Given the description of an element on the screen output the (x, y) to click on. 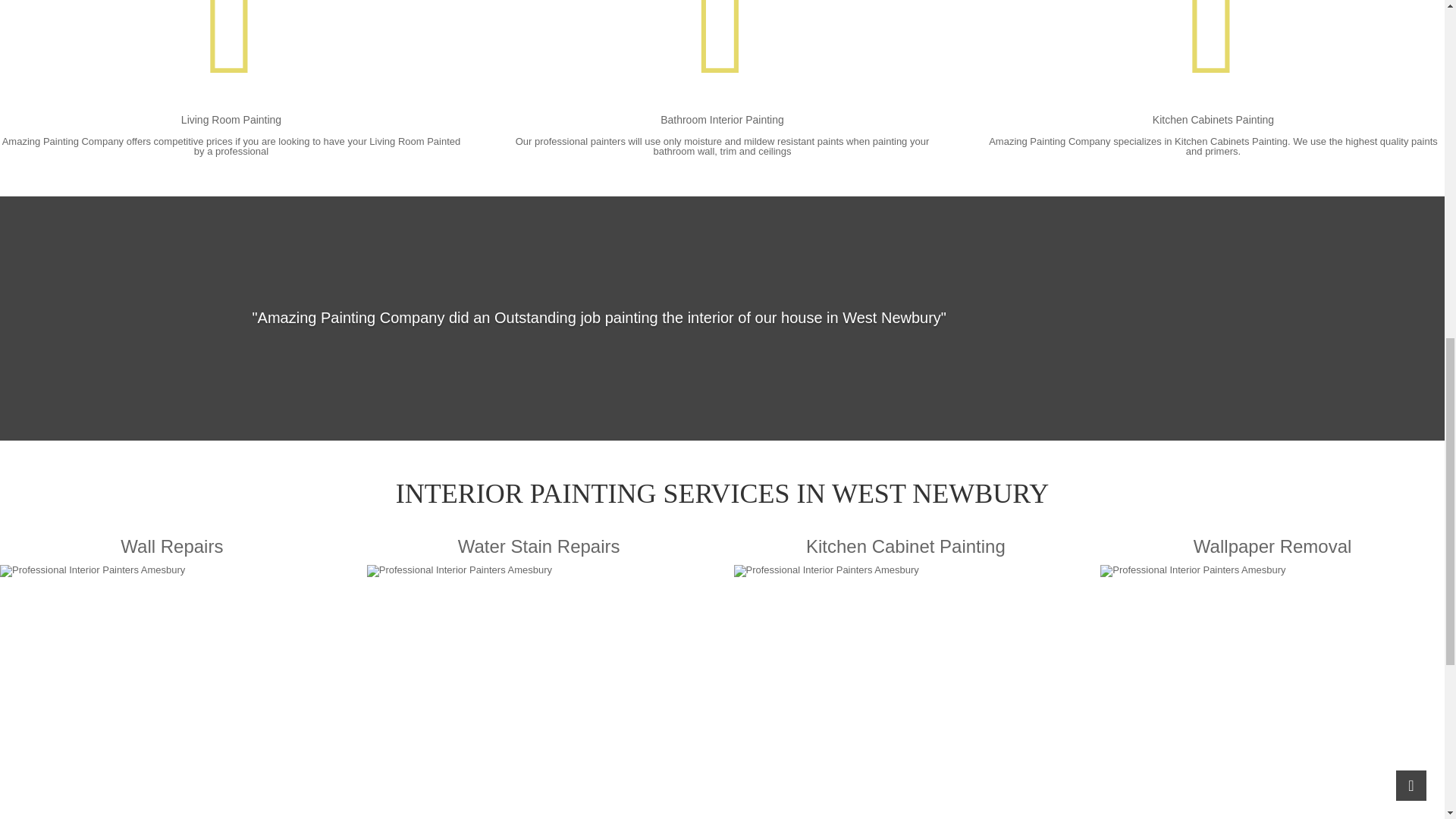
Wall Repairs  (171, 679)
Water Stain Repairs  (538, 678)
Kitchen Cabinet Painting (905, 679)
